Given the description of an element on the screen output the (x, y) to click on. 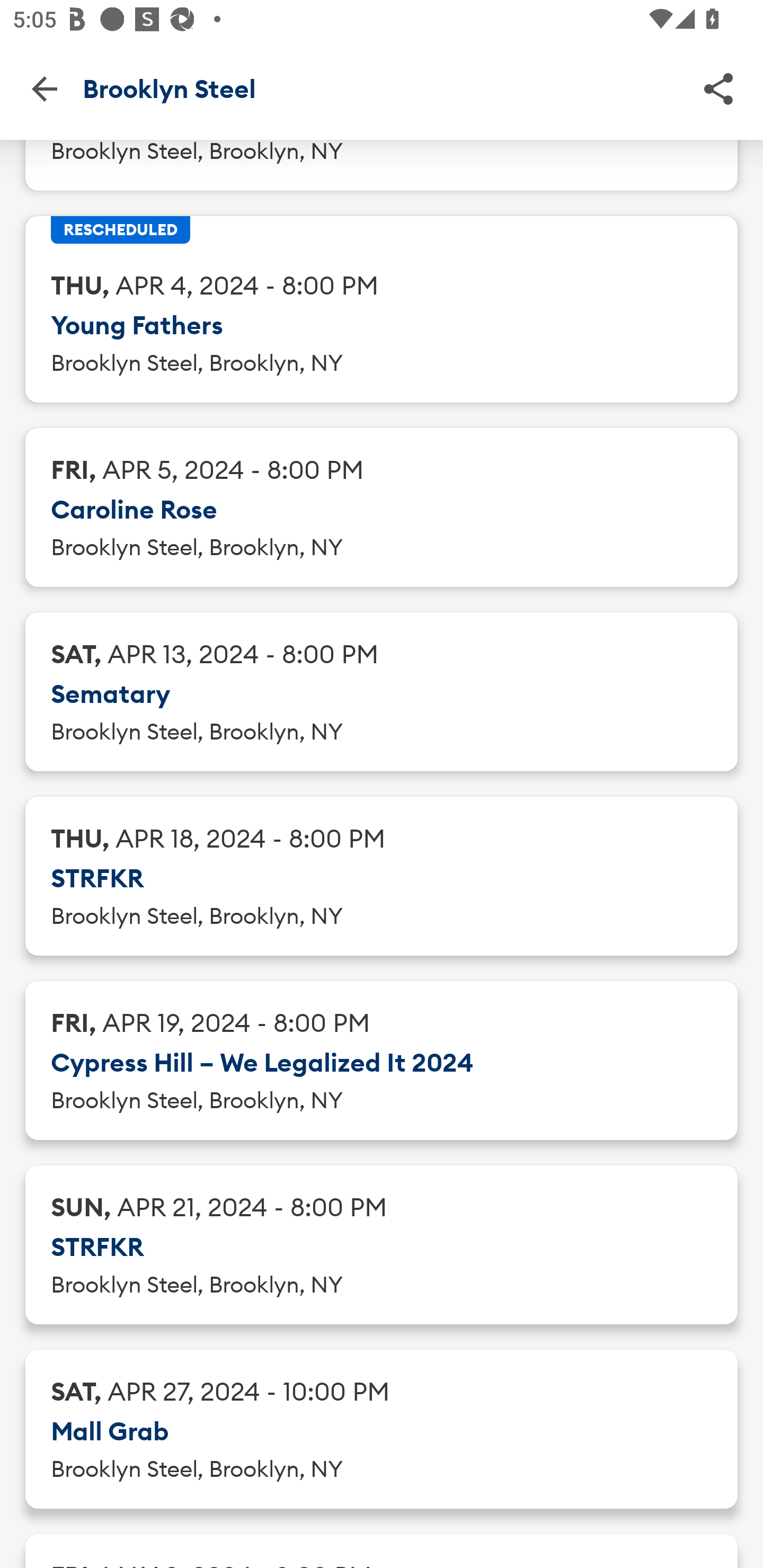
BackButton (44, 88)
Share (718, 88)
